Given the description of an element on the screen output the (x, y) to click on. 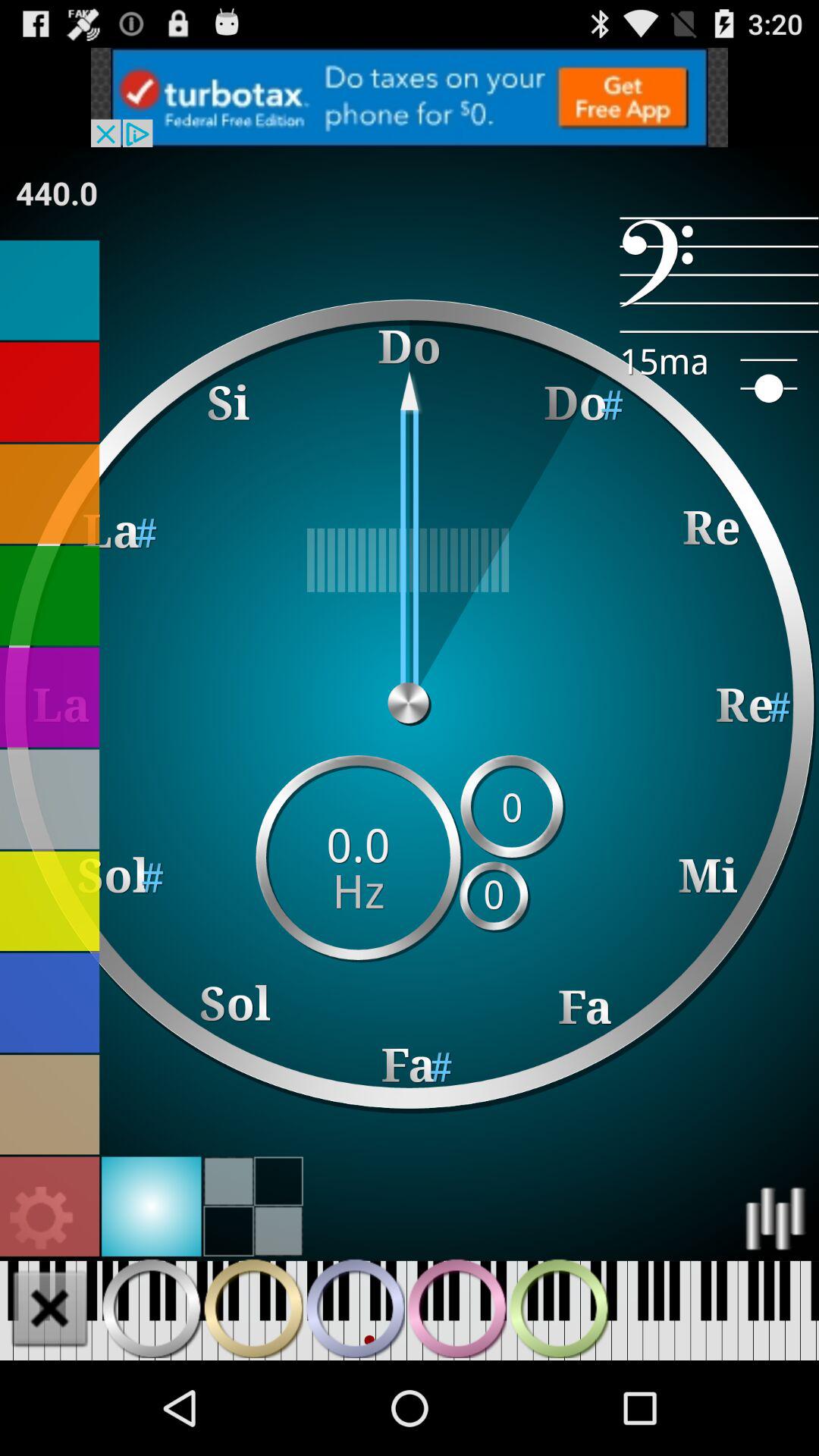
choose color (151, 1206)
